Given the description of an element on the screen output the (x, y) to click on. 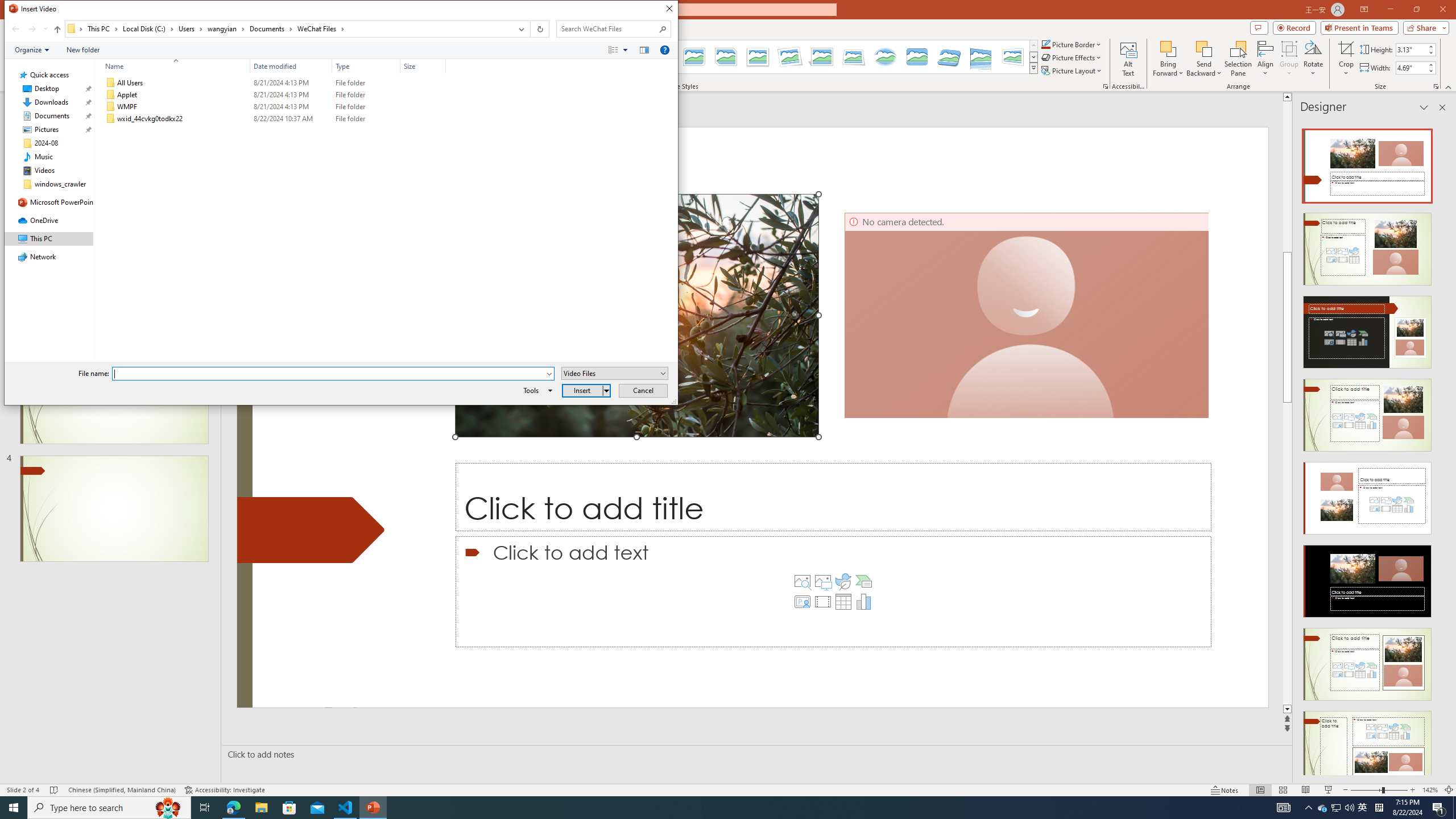
Bevel Perspective (949, 56)
Name (183, 119)
Picture Layout (1072, 69)
Refresh "WeChat Files" (F5) (538, 28)
Bring Forward (1168, 58)
Camera 7, No camera detected. (1026, 315)
Tools (535, 390)
Stock Images (801, 581)
&Help (664, 49)
